Given the description of an element on the screen output the (x, y) to click on. 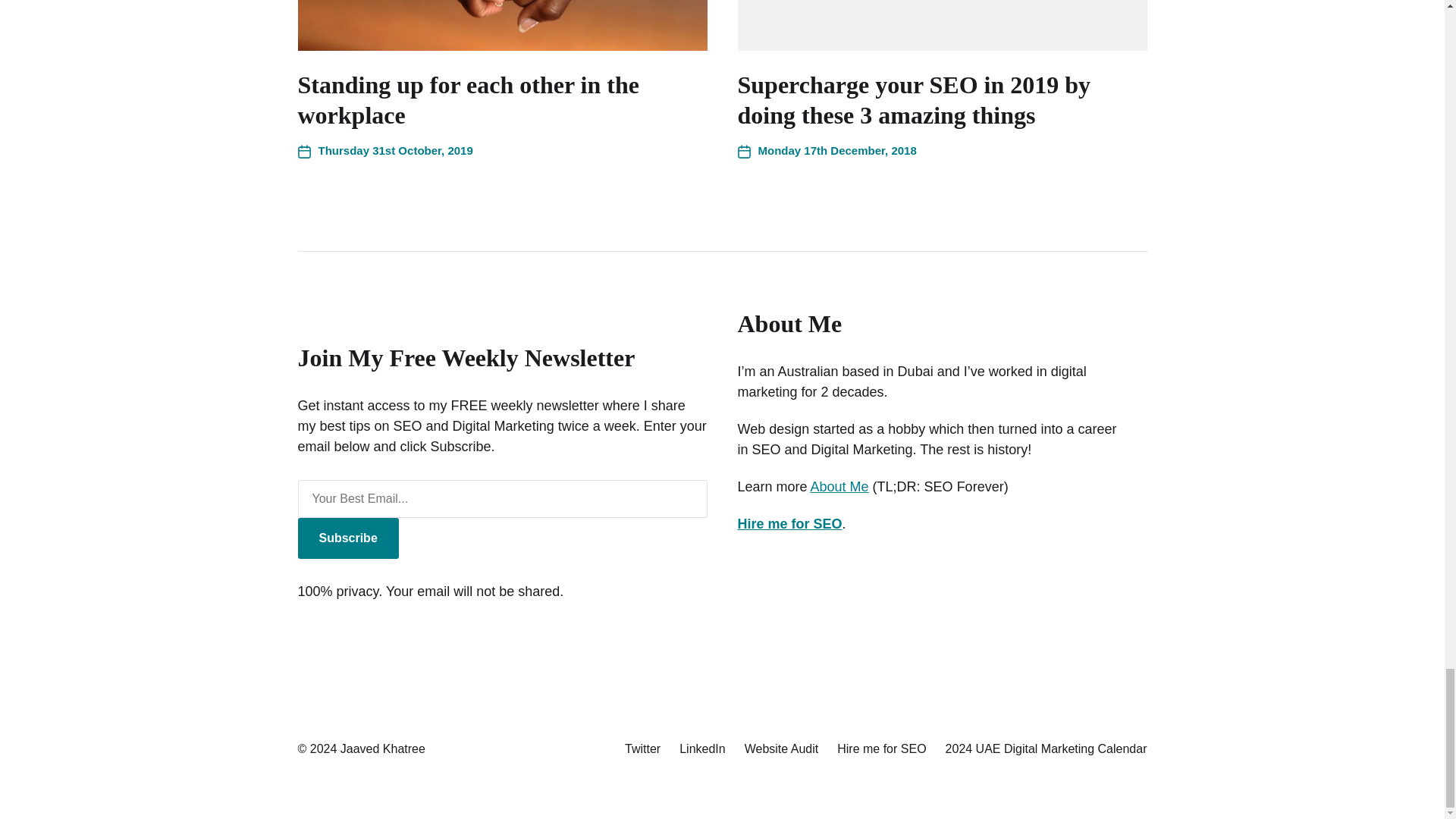
Supercharge your SEO in 2019 by doing these 3 amazing things (913, 99)
Subscribe (347, 537)
Subscribe (347, 537)
Standing up for each other in the workplace (468, 99)
Monday 17th December, 2018 (825, 150)
About Me (839, 486)
Hire me for SEO (788, 523)
Thursday 31st October, 2019 (384, 150)
